Given the description of an element on the screen output the (x, y) to click on. 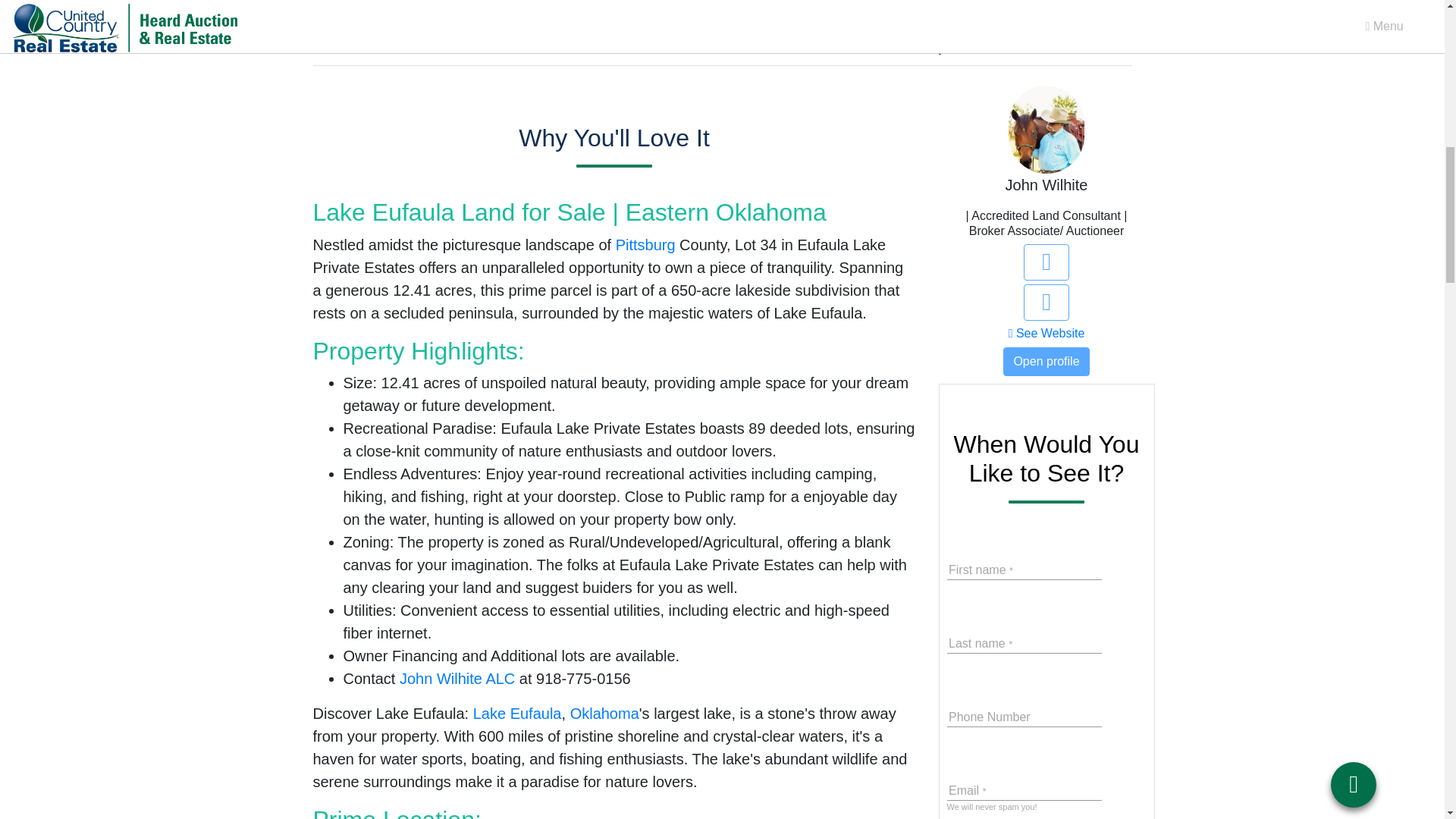
Pittsburg (645, 244)
ALC (499, 678)
Oklahoma (604, 713)
John Wilhite (439, 678)
Lake Eufaula (517, 713)
